Given the description of an element on the screen output the (x, y) to click on. 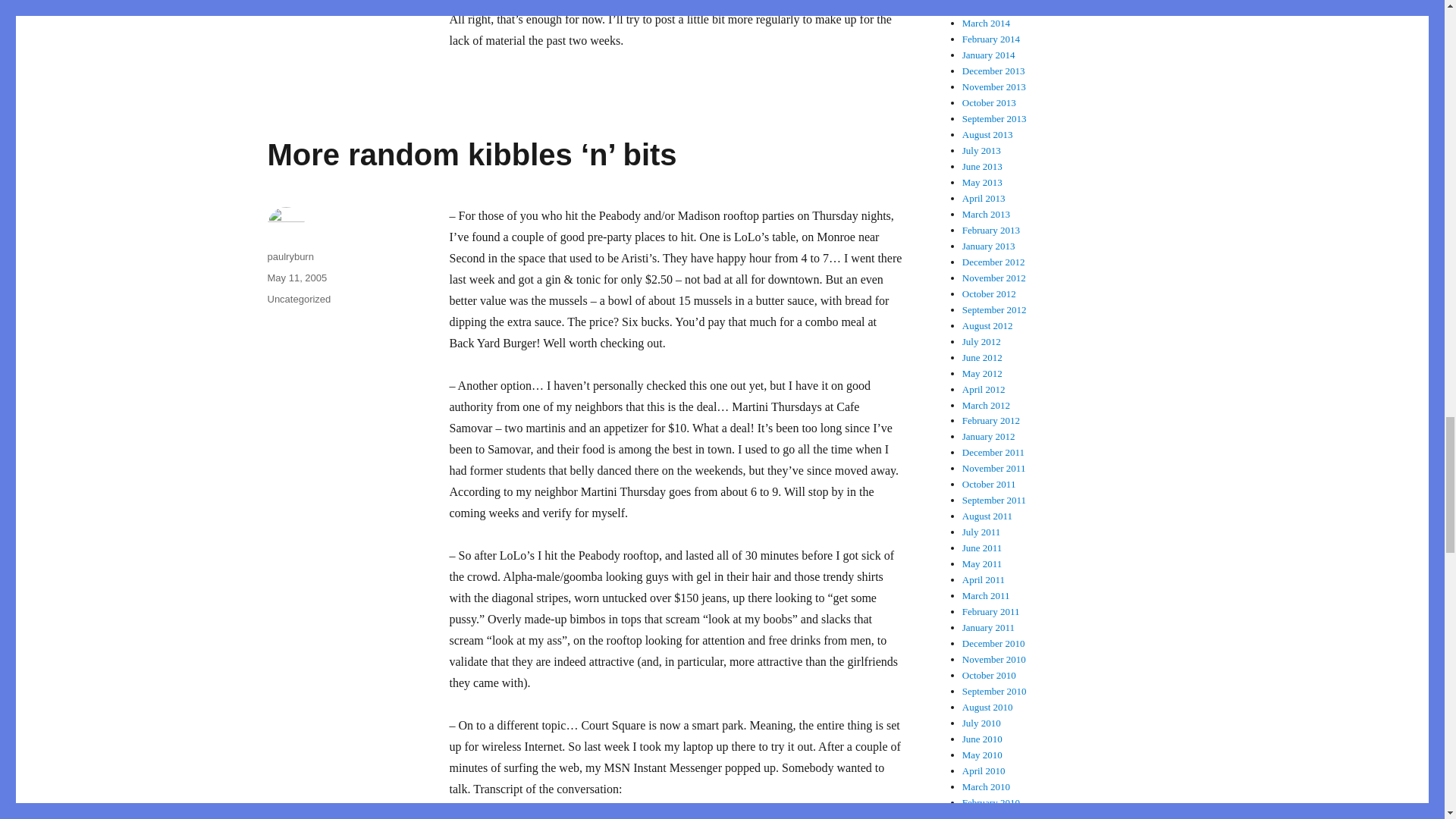
Uncategorized (298, 298)
May 11, 2005 (296, 277)
paulryburn (289, 256)
